Given the description of an element on the screen output the (x, y) to click on. 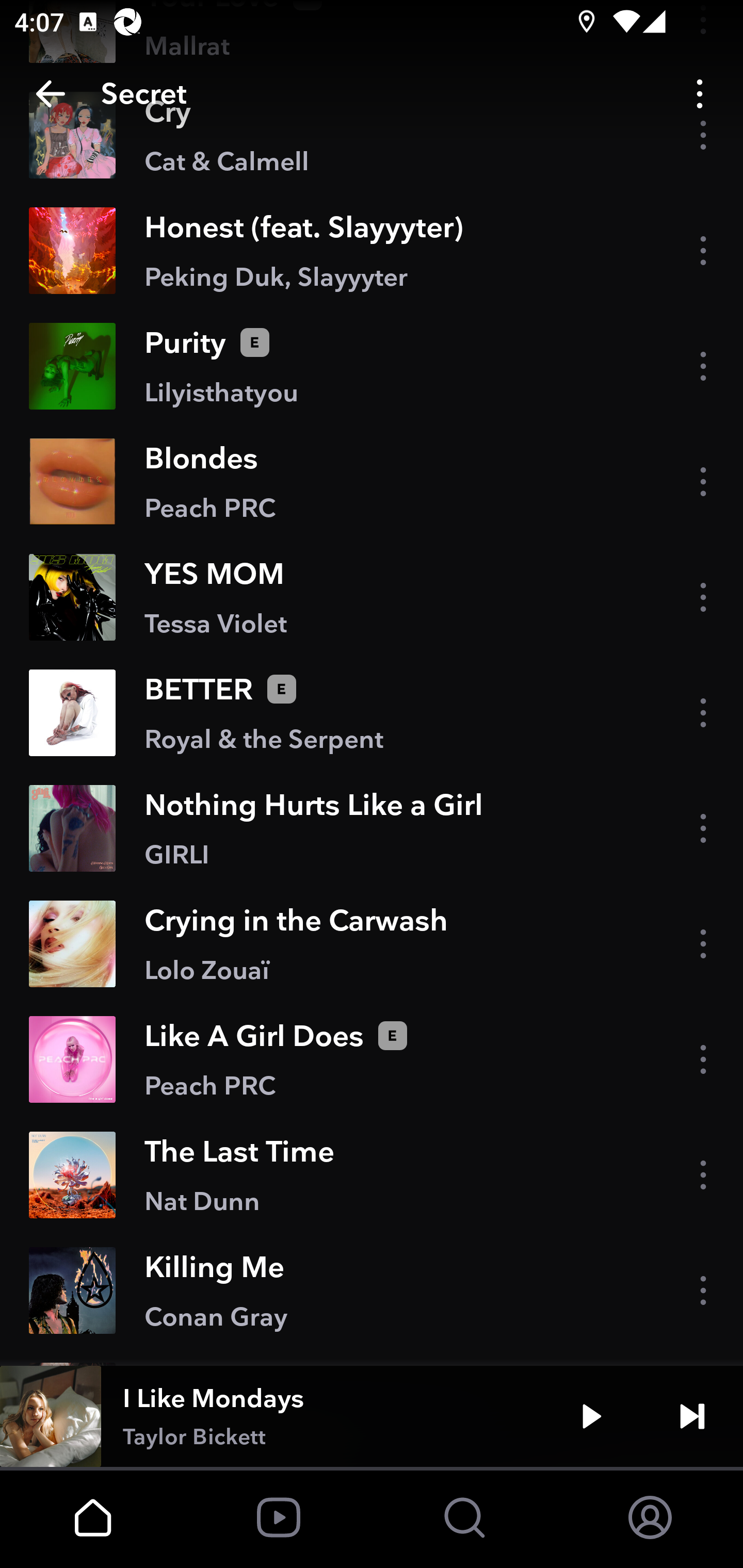
Options (699, 93)
Cry Cat & Calmell (371, 134)
Honest (feat. Slayyyter) Peking Duk, Slayyyter (371, 250)
Purity Lilyisthatyou (371, 365)
Blondes Peach PRC (371, 481)
YES MOM Tessa Violet (371, 597)
BETTER Royal & the Serpent (371, 712)
Nothing Hurts Like a Girl GIRLI (371, 827)
Crying in the Carwash Lolo Zouaï (371, 943)
Like A Girl Does Peach PRC (371, 1058)
The Last Time Nat Dunn (371, 1174)
Killing Me Conan Gray (371, 1290)
I Like Mondays Taylor Bickett Play (371, 1416)
Play (590, 1416)
